Given the description of an element on the screen output the (x, y) to click on. 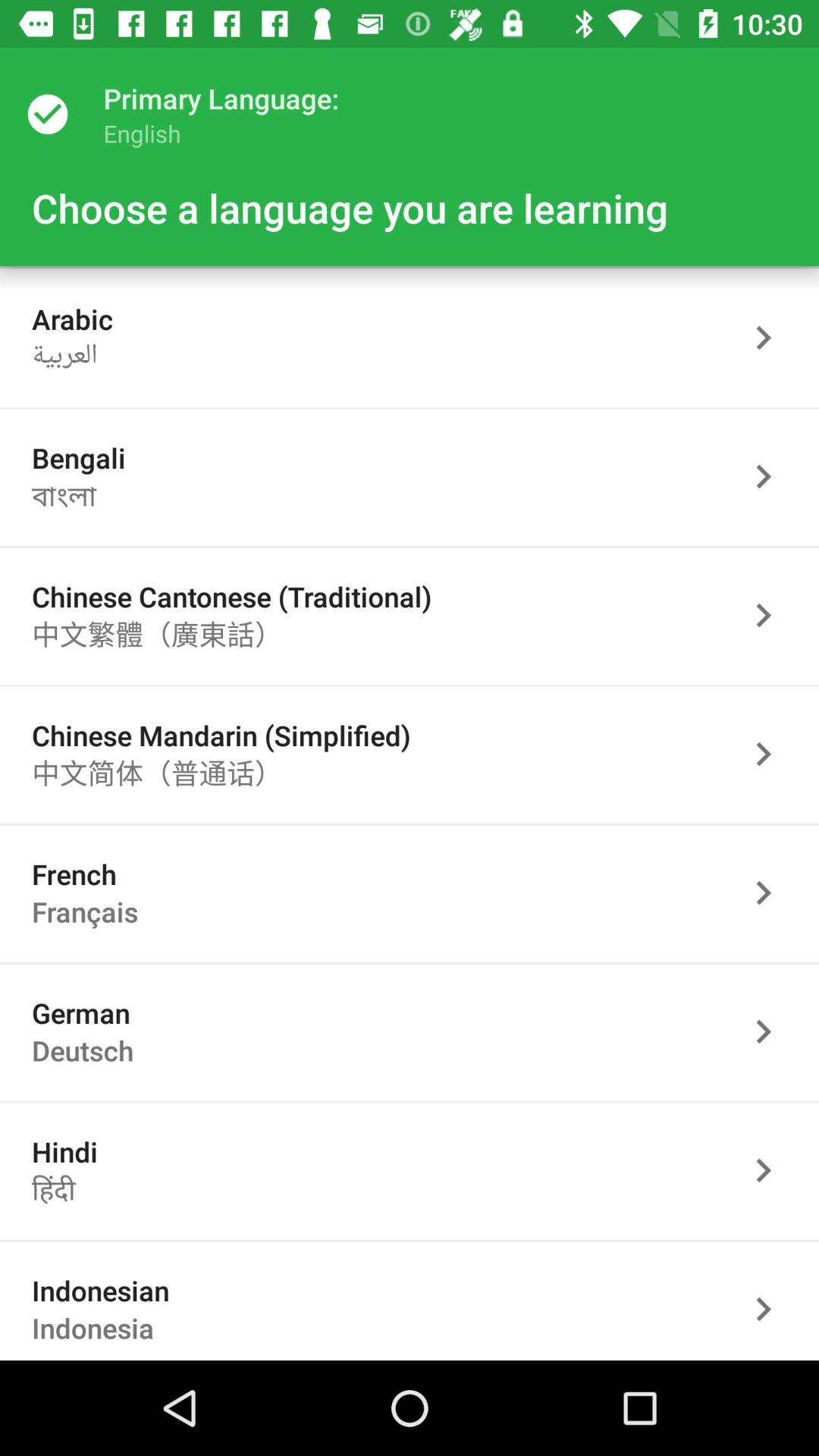
select language as arabic (771, 337)
